Given the description of an element on the screen output the (x, y) to click on. 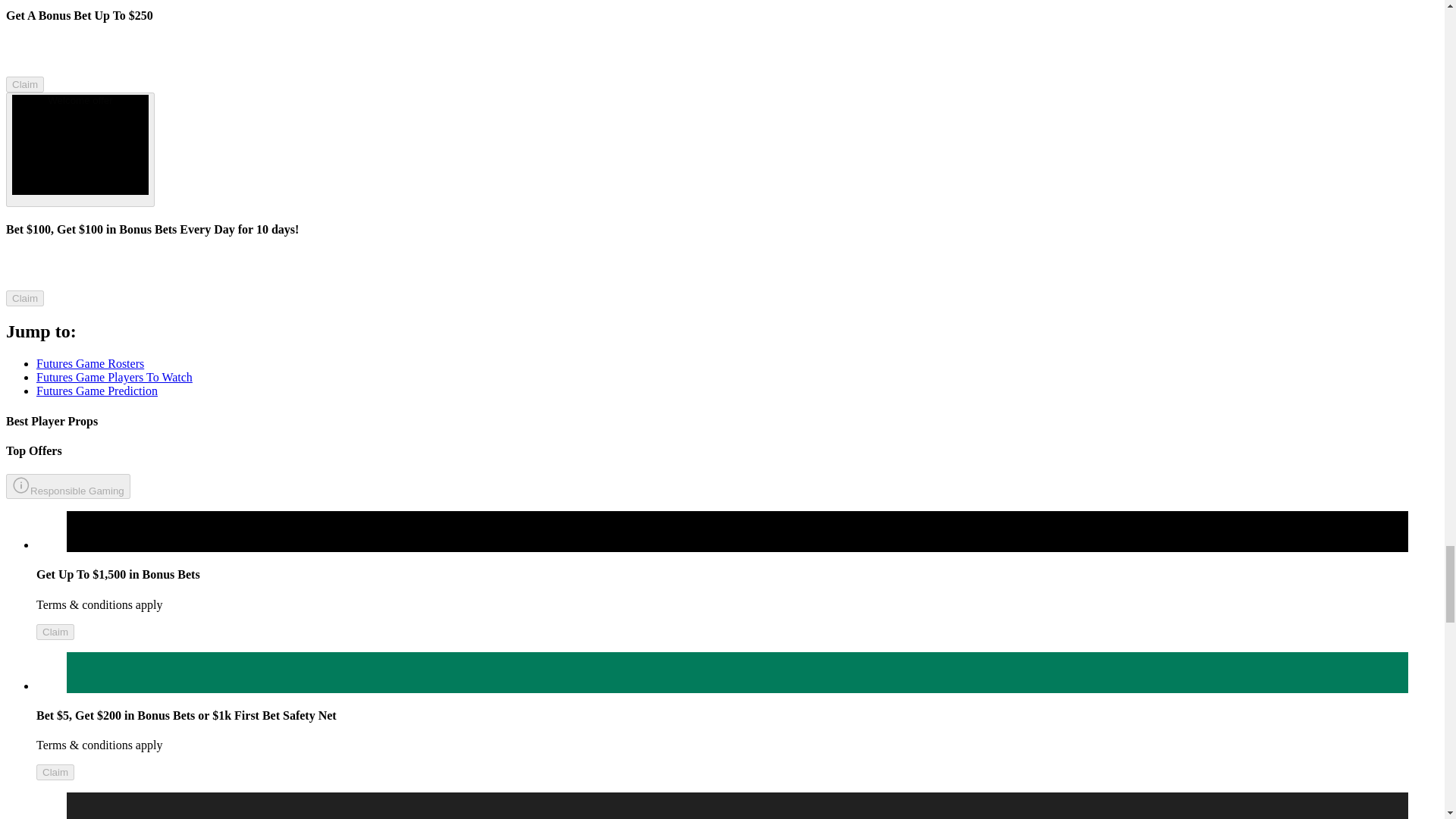
Futures Game Prediction (96, 390)
Futures Game Players To Watch (114, 377)
Futures Game Rosters (90, 363)
